Given the description of an element on the screen output the (x, y) to click on. 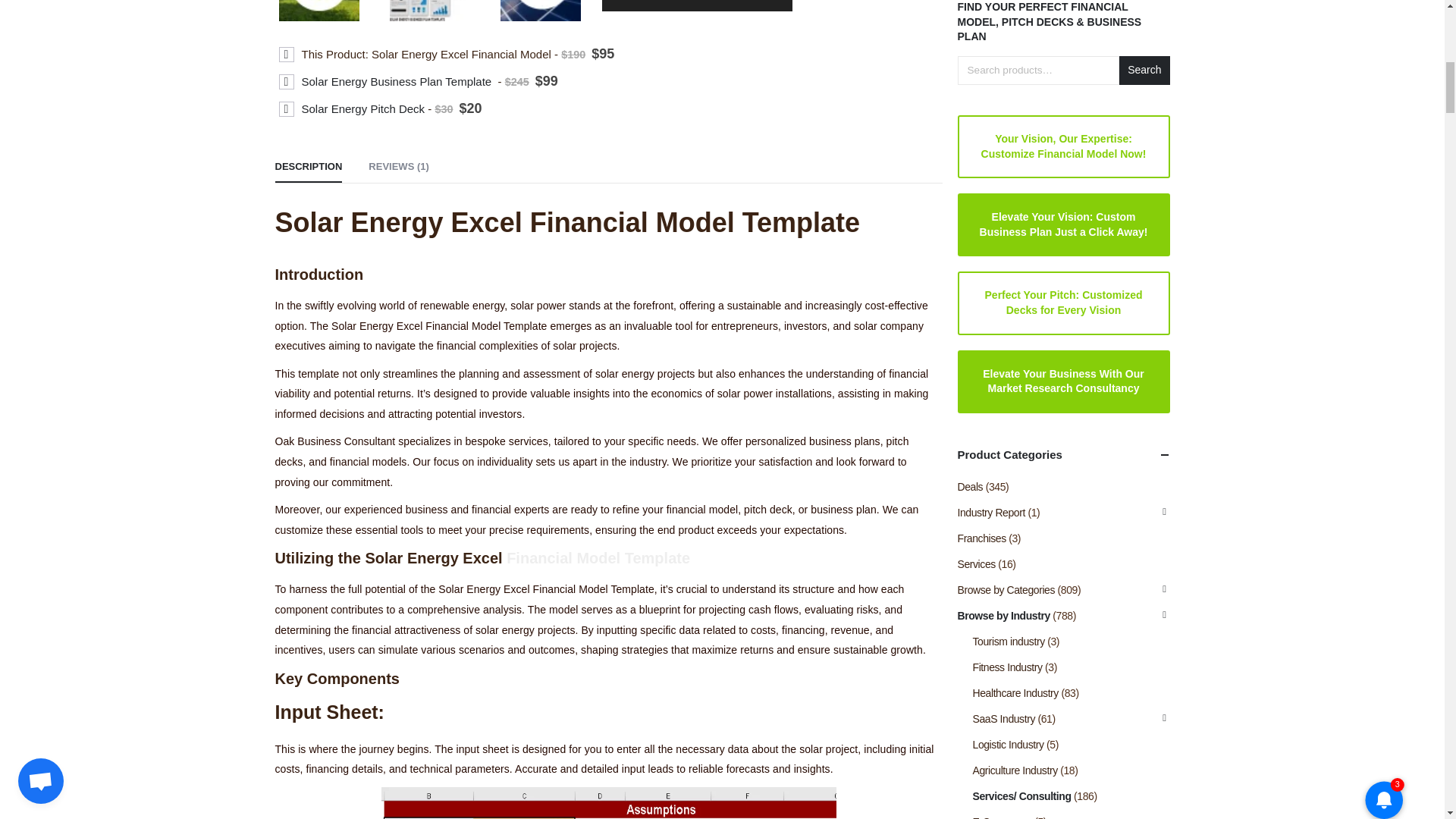
56456 (286, 109)
15928 (286, 54)
80486 (286, 81)
